Given the description of an element on the screen output the (x, y) to click on. 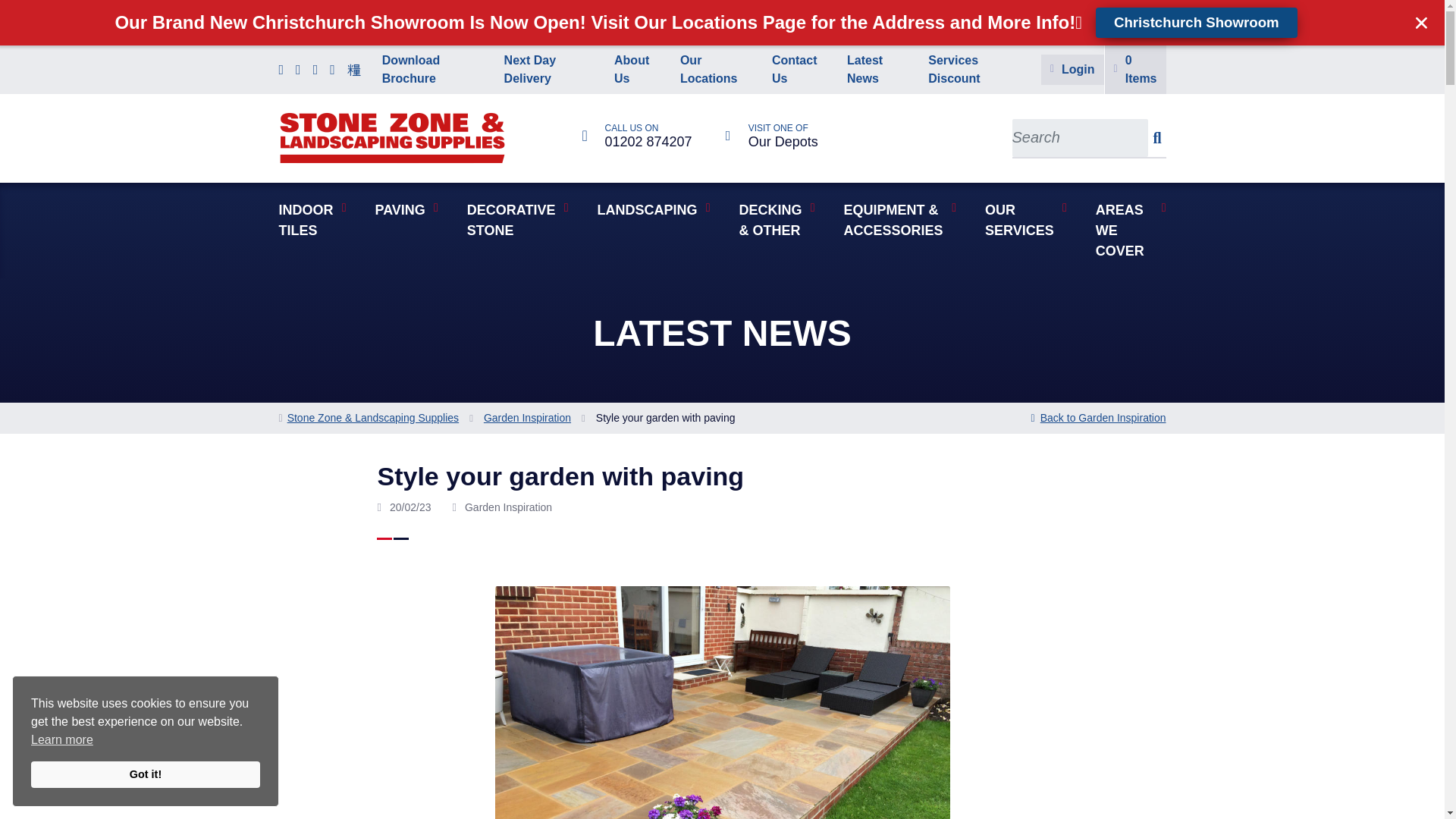
Login (1072, 69)
Latest News (878, 69)
Next Day Delivery (550, 69)
Services Discount (637, 135)
Download Brochure (975, 69)
Contact Us (433, 69)
Our Locations (771, 135)
0 Items (800, 69)
Got it! (716, 69)
Learn more (1135, 69)
About Us (145, 774)
